Given the description of an element on the screen output the (x, y) to click on. 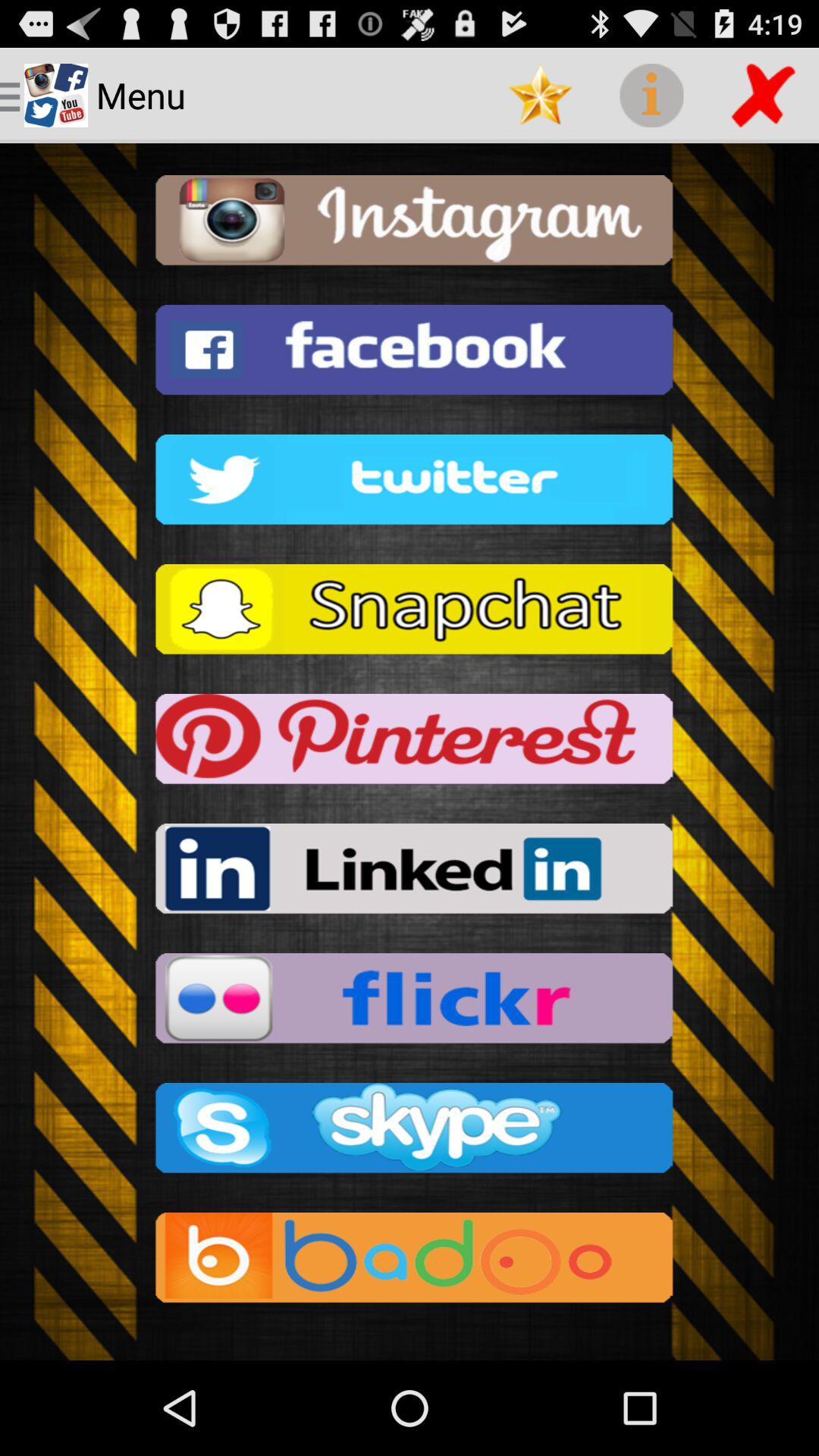
select instagram (409, 224)
